Given the description of an element on the screen output the (x, y) to click on. 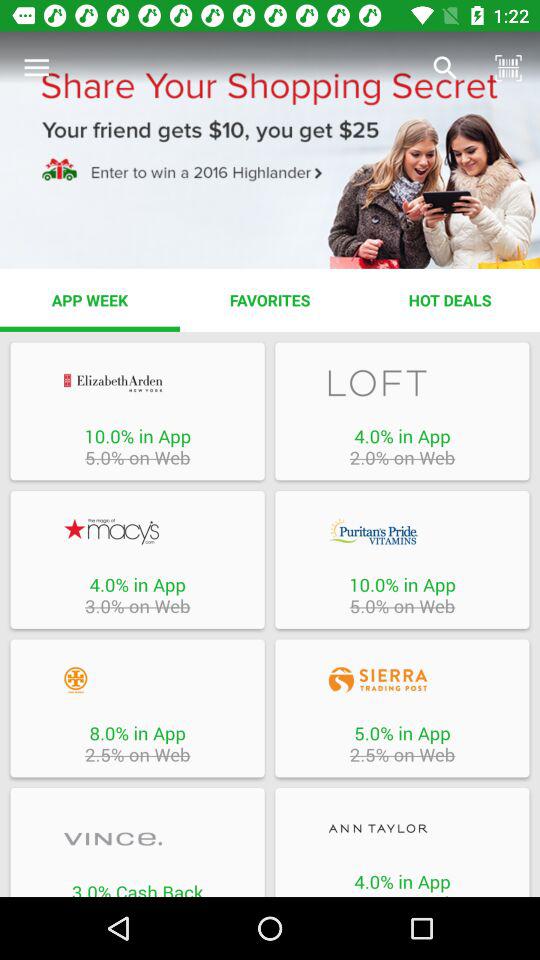
go to shopping options (402, 382)
